Given the description of an element on the screen output the (x, y) to click on. 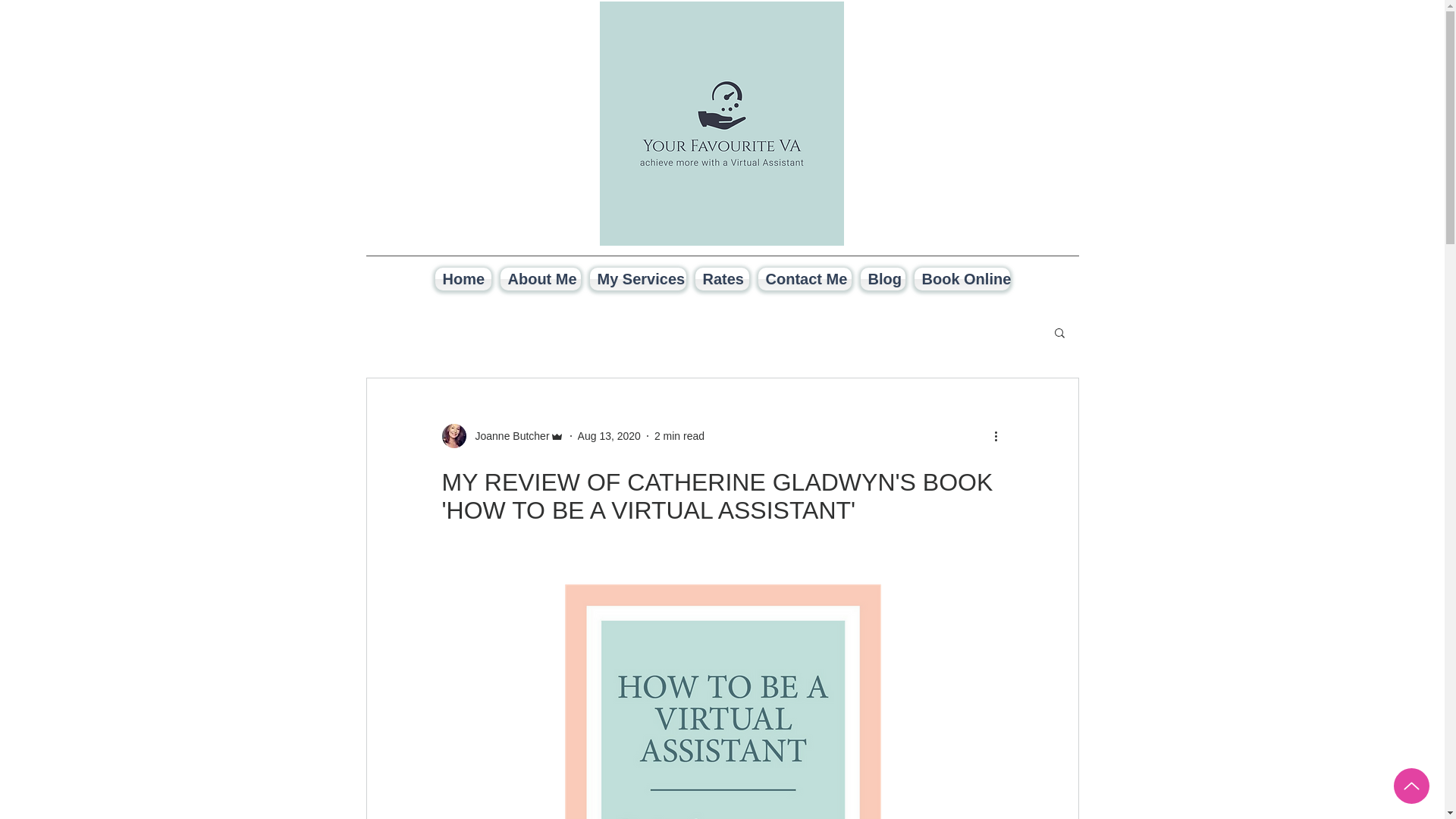
Rates (721, 278)
2 min read (678, 435)
Blog (882, 278)
My Services (637, 278)
Aug 13, 2020 (609, 435)
Book Online (962, 278)
Joanne Butcher (506, 435)
Home (463, 278)
About Me (540, 278)
Contact Me (805, 278)
